Given the description of an element on the screen output the (x, y) to click on. 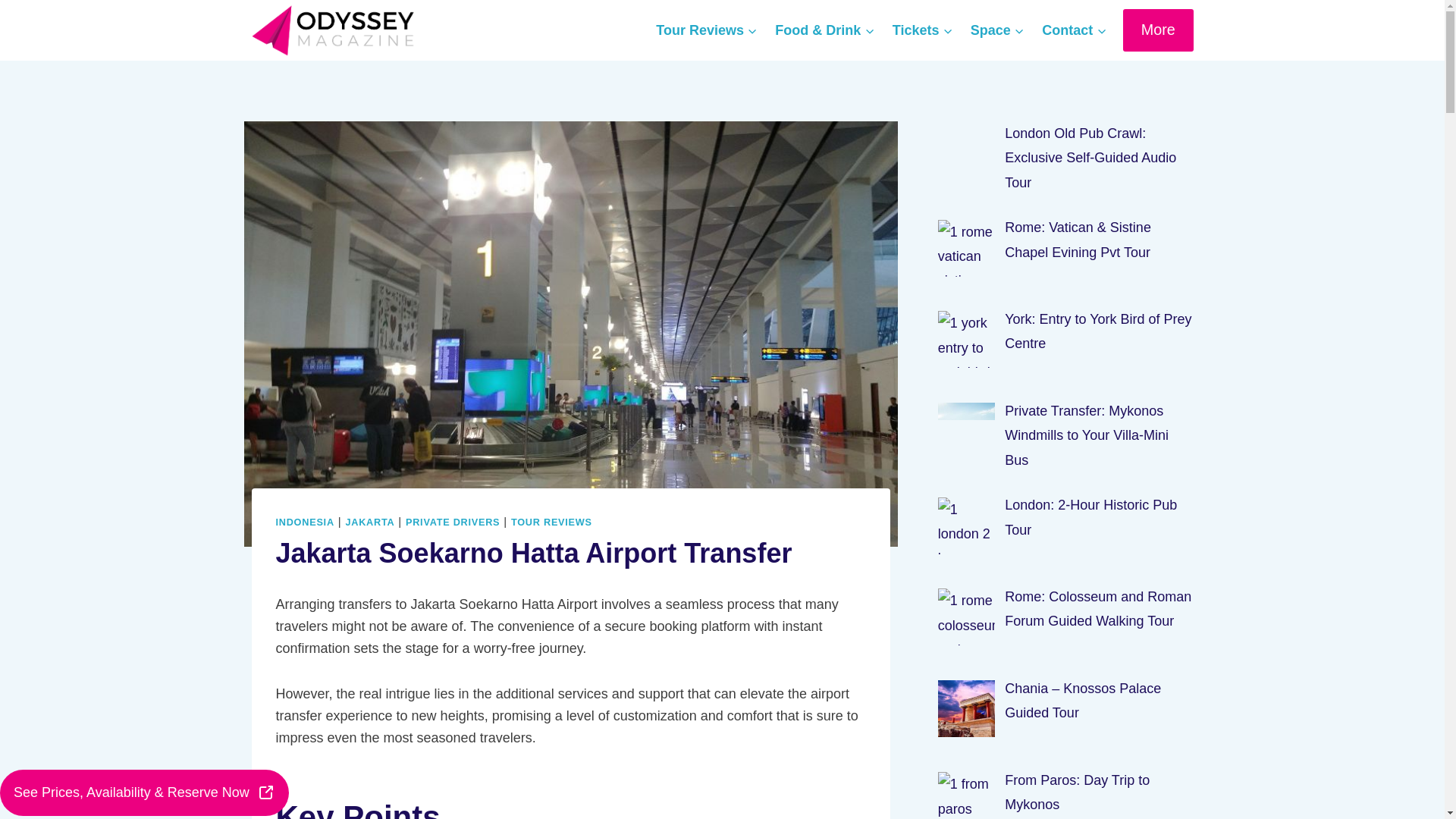
TOUR REVIEWS (551, 521)
Tour Reviews (707, 30)
Contact (1074, 30)
Space (996, 30)
INDONESIA (305, 521)
PRIVATE DRIVERS (452, 521)
JAKARTA (369, 521)
More (1157, 29)
Tickets (921, 30)
